Given the description of an element on the screen output the (x, y) to click on. 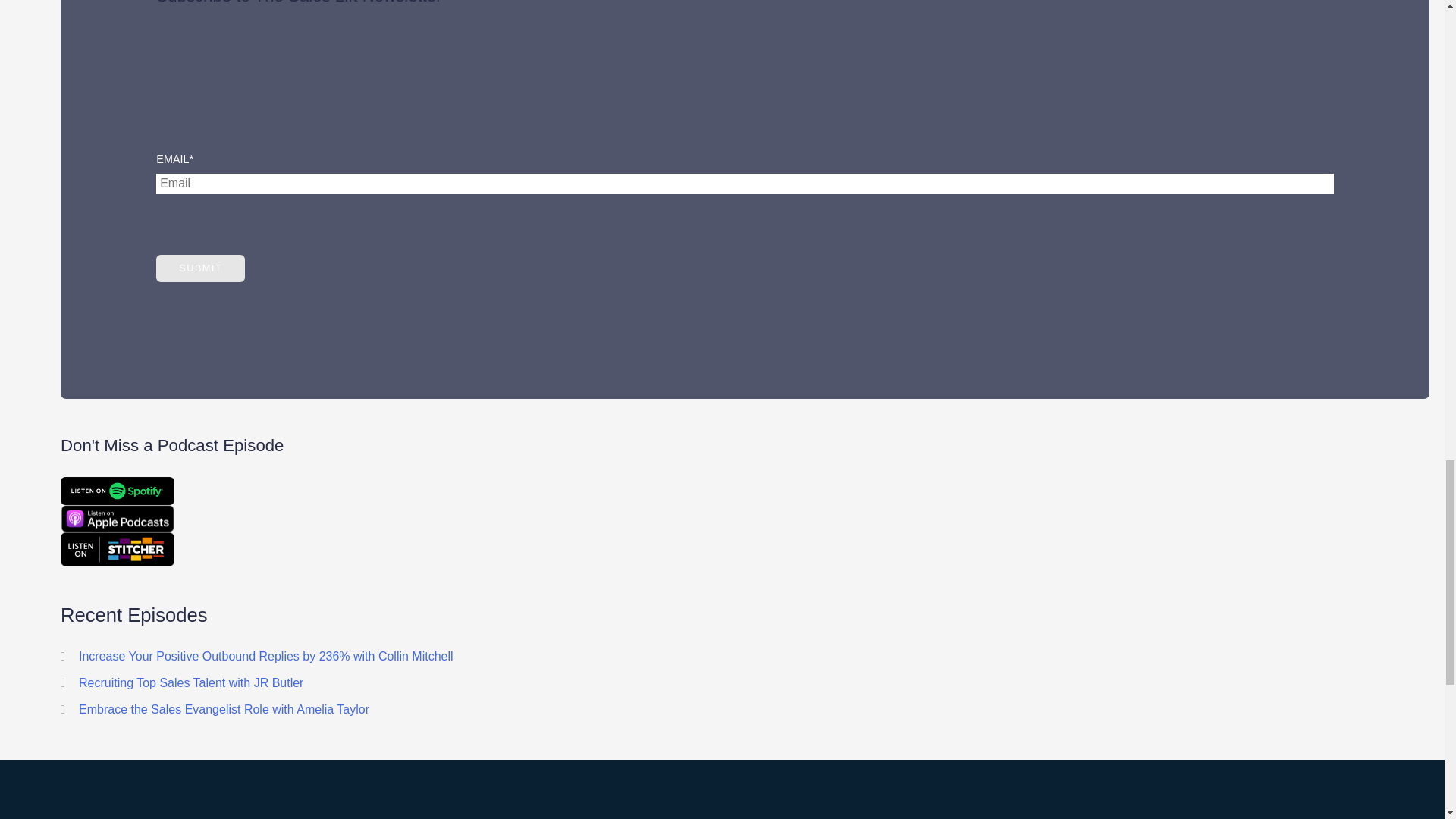
Submit (199, 267)
Recruiting Top Sales Talent with JR Butler (190, 682)
Submit (199, 267)
Embrace the Sales Evangelist Role with Amelia Taylor (223, 708)
